Given the description of an element on the screen output the (x, y) to click on. 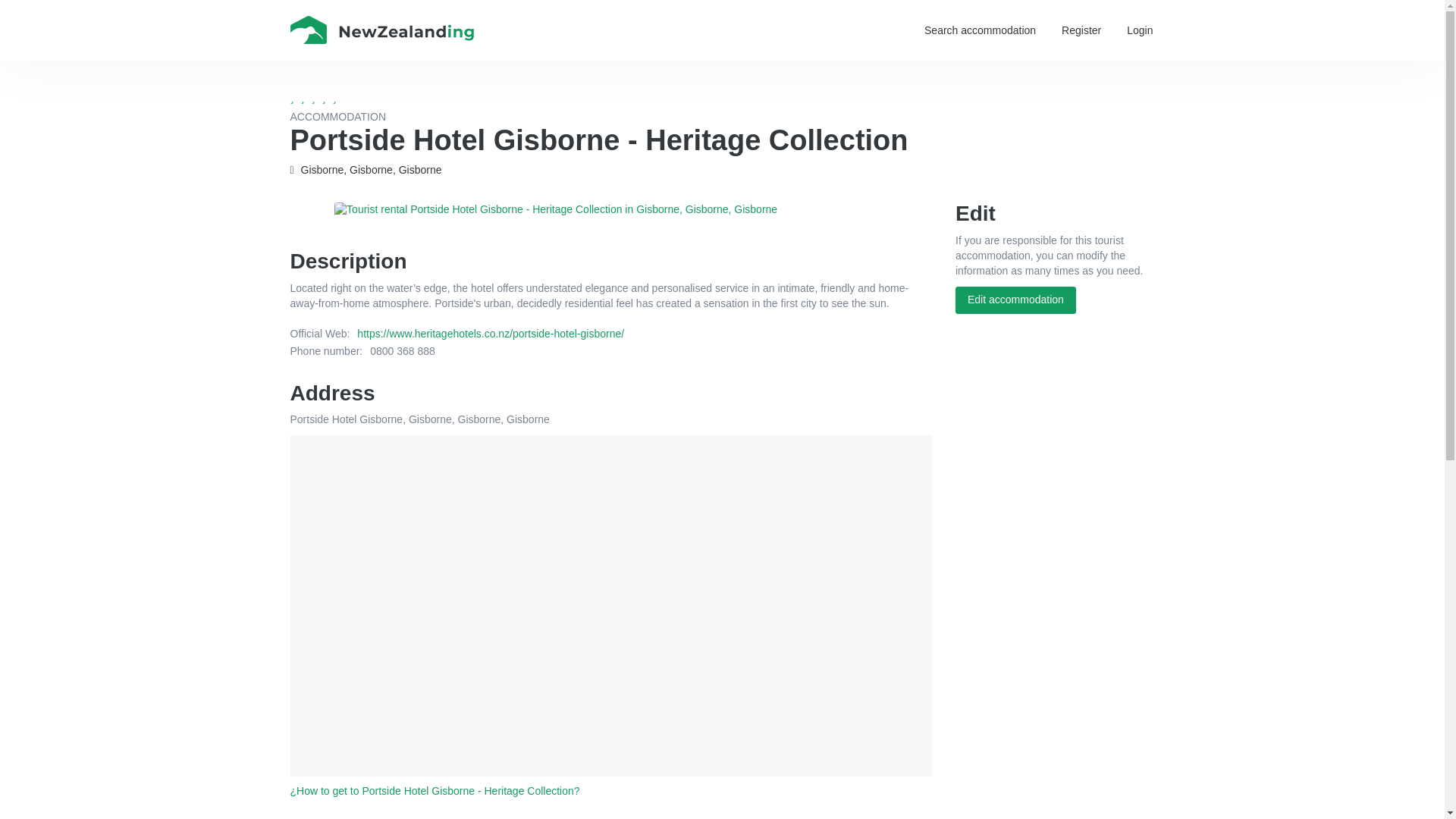
Search accommodation (979, 30)
Register (1080, 30)
Edit accommodation (1015, 299)
Login (1139, 30)
